Given the description of an element on the screen output the (x, y) to click on. 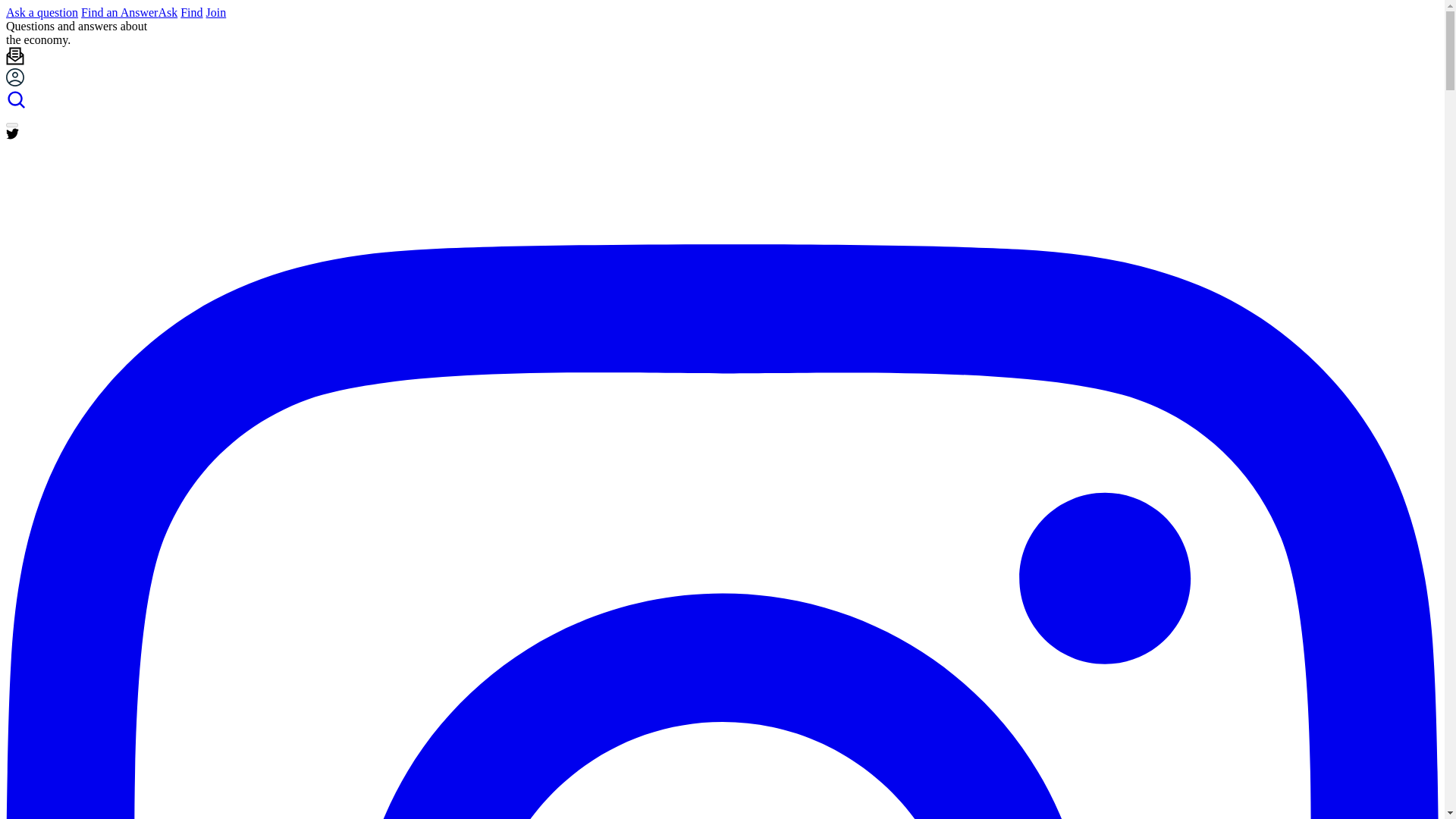
Find (191, 11)
Join (216, 11)
Ask a question (41, 11)
Ask (167, 11)
Find an Answer (119, 11)
